Given the description of an element on the screen output the (x, y) to click on. 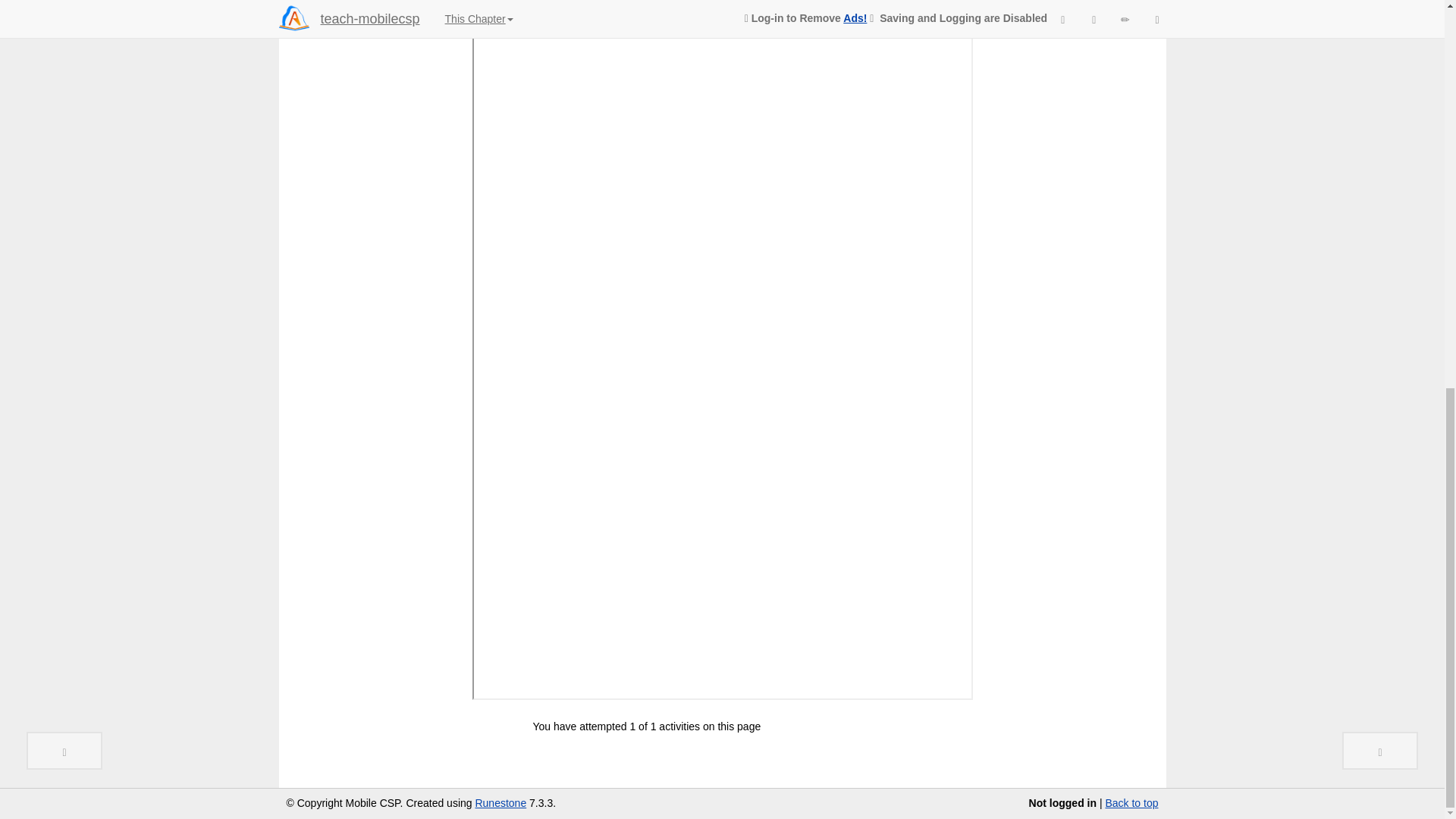
Next Section - 4.2. LightsOff Tutorial (1380, 16)
